Given the description of an element on the screen output the (x, y) to click on. 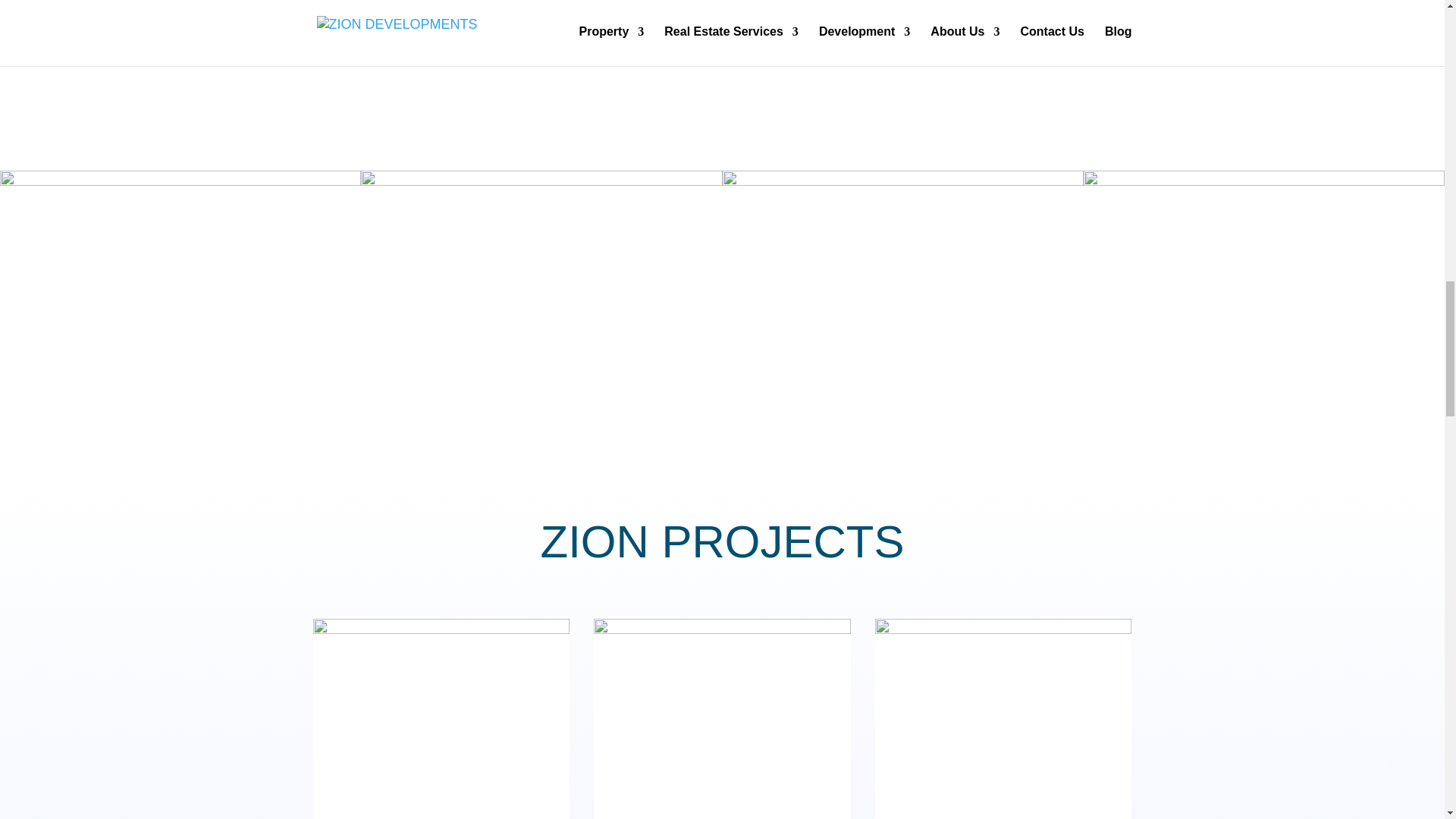
partner3 (541, 305)
partner1 (902, 305)
partner4 (180, 305)
